Given the description of an element on the screen output the (x, y) to click on. 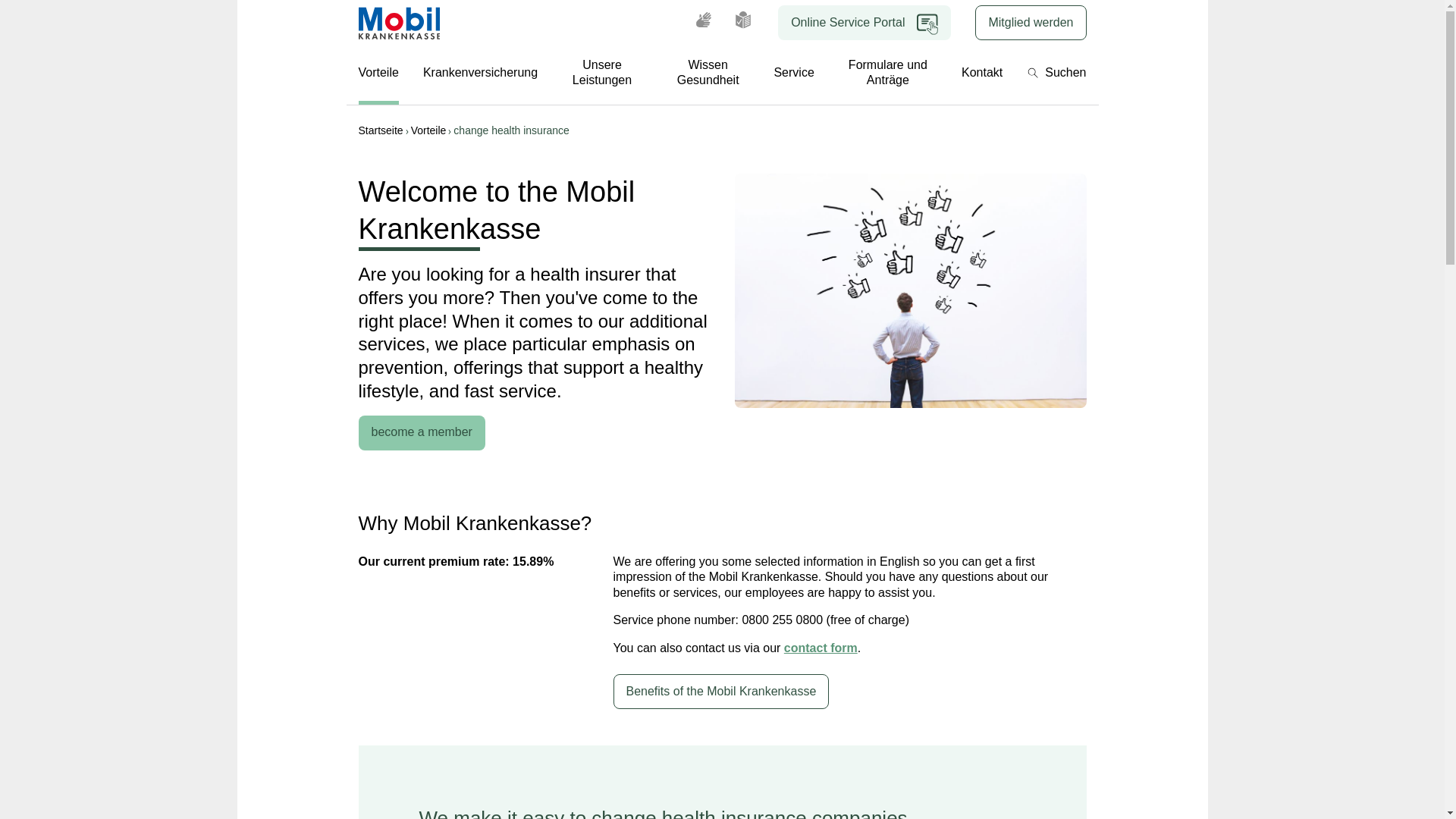
change health insurance (510, 130)
Vorteile (378, 74)
Online Service Portal (863, 22)
Benefits of the Mobil Krankenkasse (720, 691)
contact form (820, 647)
Zur Startseite (398, 22)
Unsere Leistungen (601, 74)
Vorteile (432, 130)
Service (793, 74)
Wissen Gesundheit (707, 74)
become a member (421, 432)
Krankenversicherung (480, 74)
Startseite (384, 130)
